Given the description of an element on the screen output the (x, y) to click on. 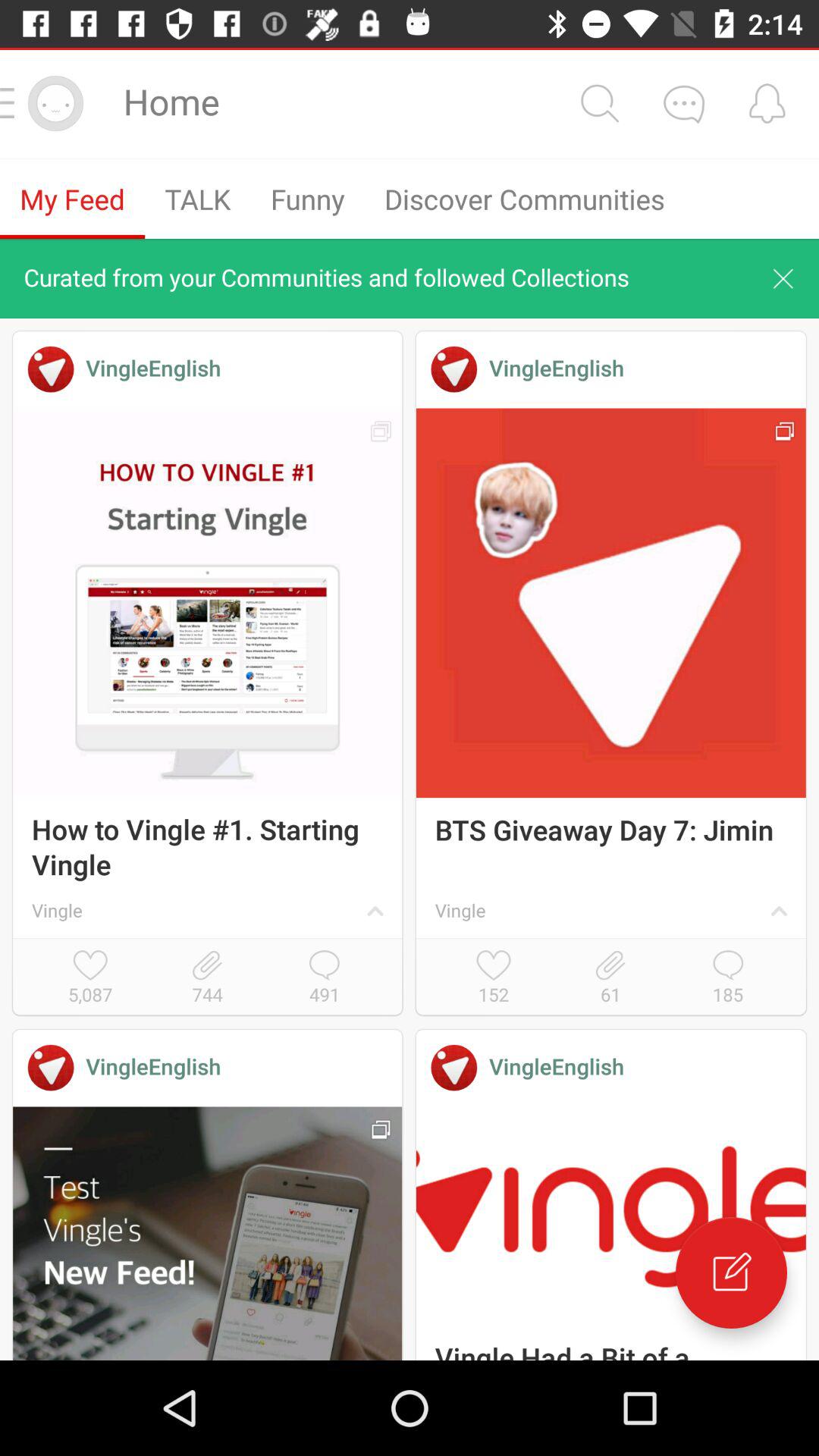
click to edit (731, 1272)
